Given the description of an element on the screen output the (x, y) to click on. 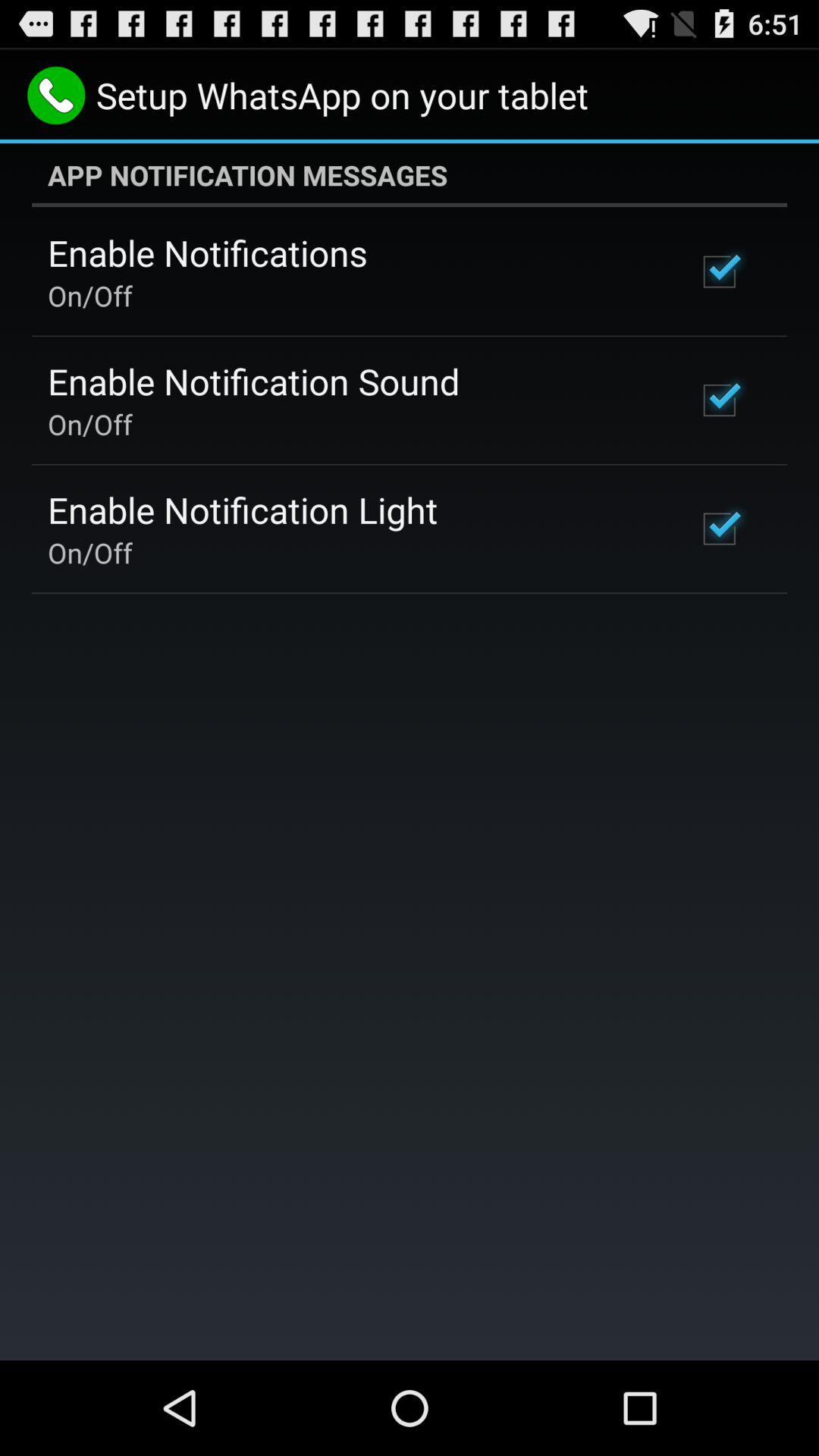
choose app notification messages app (409, 175)
